Given the description of an element on the screen output the (x, y) to click on. 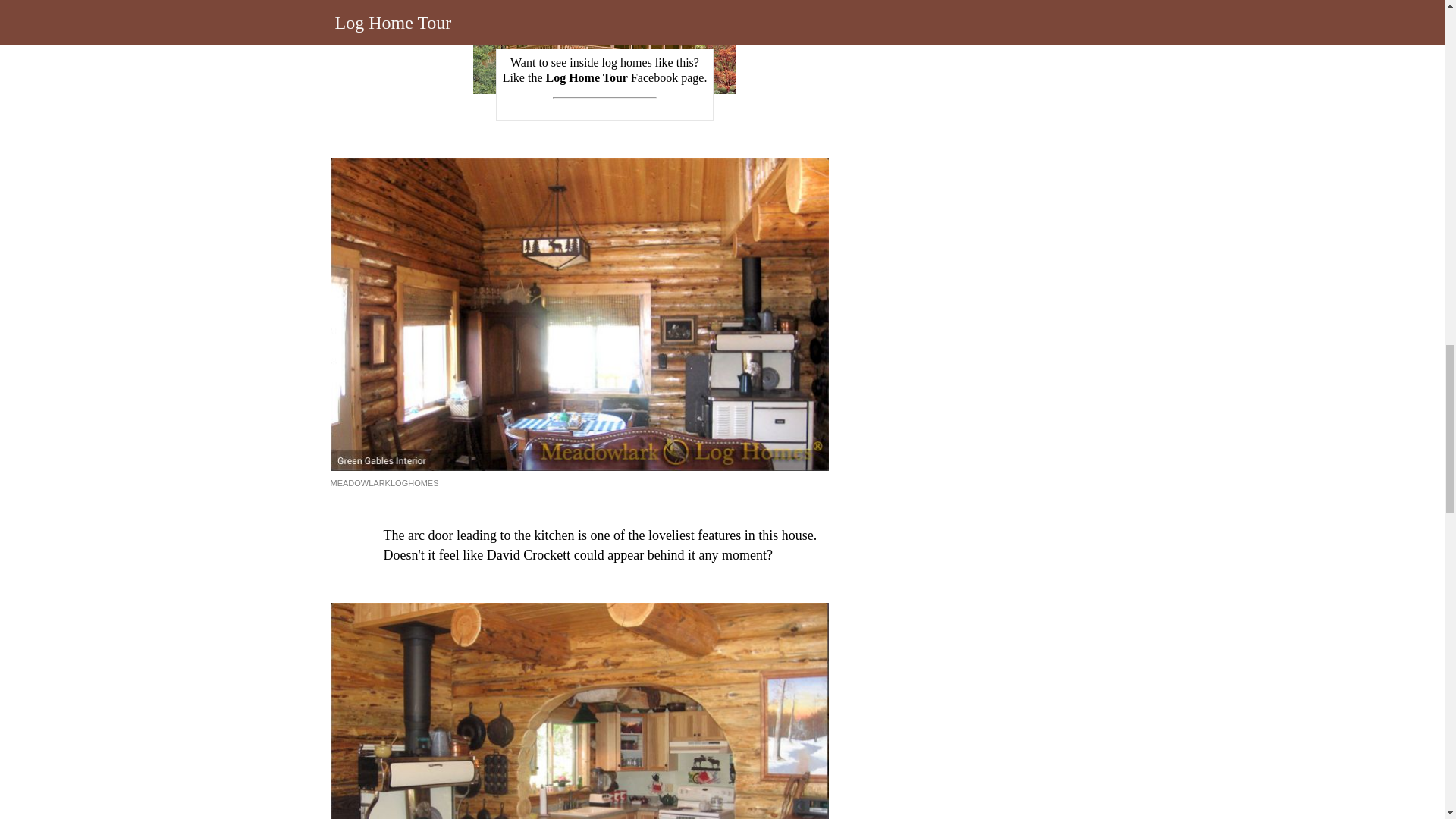
MEADOWLARKLOGHOMES (384, 482)
